Given the description of an element on the screen output the (x, y) to click on. 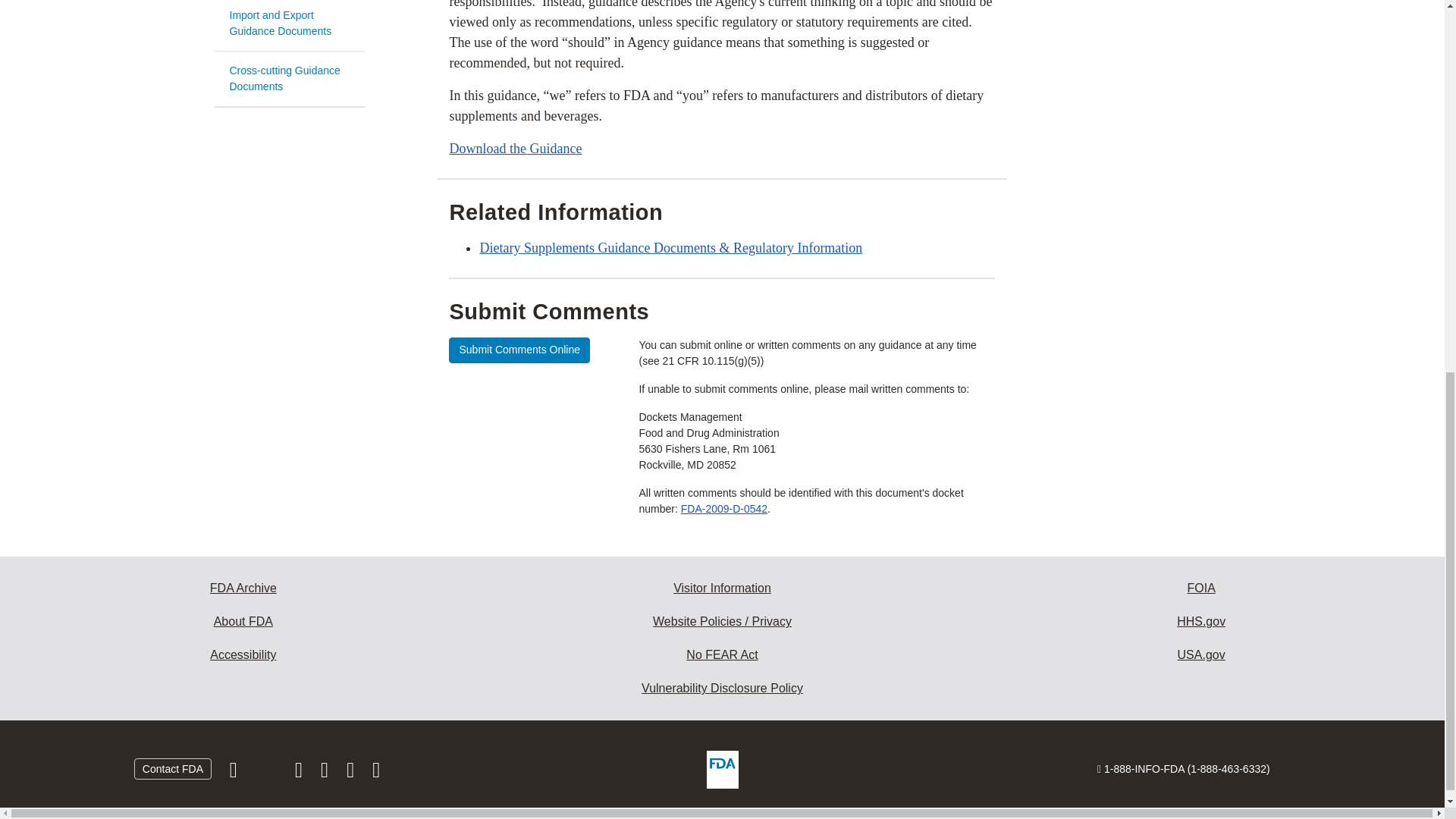
Follow FDA on LinkedIn (326, 773)
View FDA videos on YouTube (352, 773)
Follow FDA on Instagram (299, 773)
Freedom of Information Act (1200, 588)
Follow FDA on Facebook (234, 773)
Follow FDA on X (266, 773)
Subscribe to FDA RSS feeds (376, 773)
Health and Human Services (1200, 621)
